Given the description of an element on the screen output the (x, y) to click on. 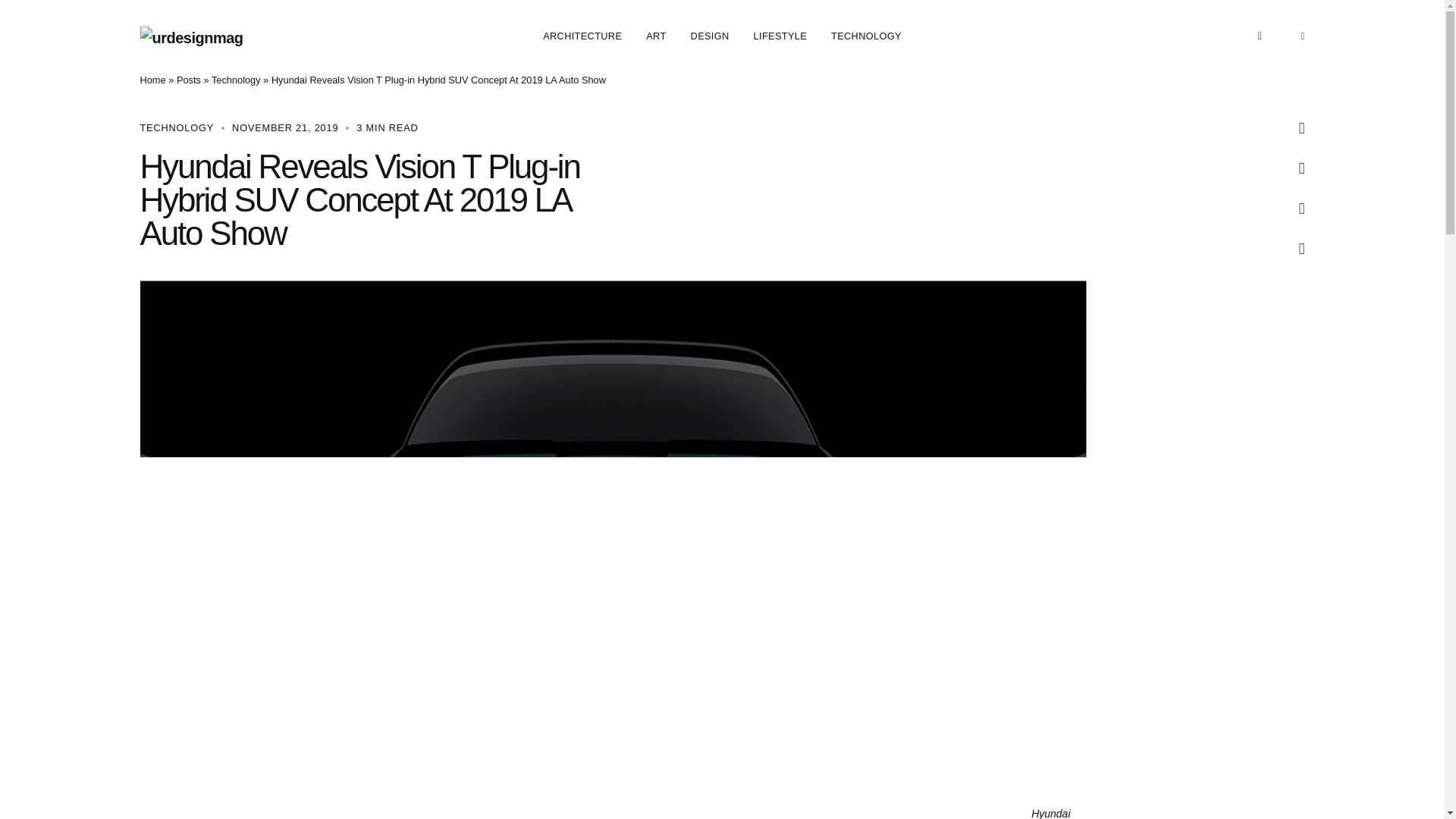
TECHNOLOGY (866, 36)
ARCHITECTURE (582, 36)
